Given the description of an element on the screen output the (x, y) to click on. 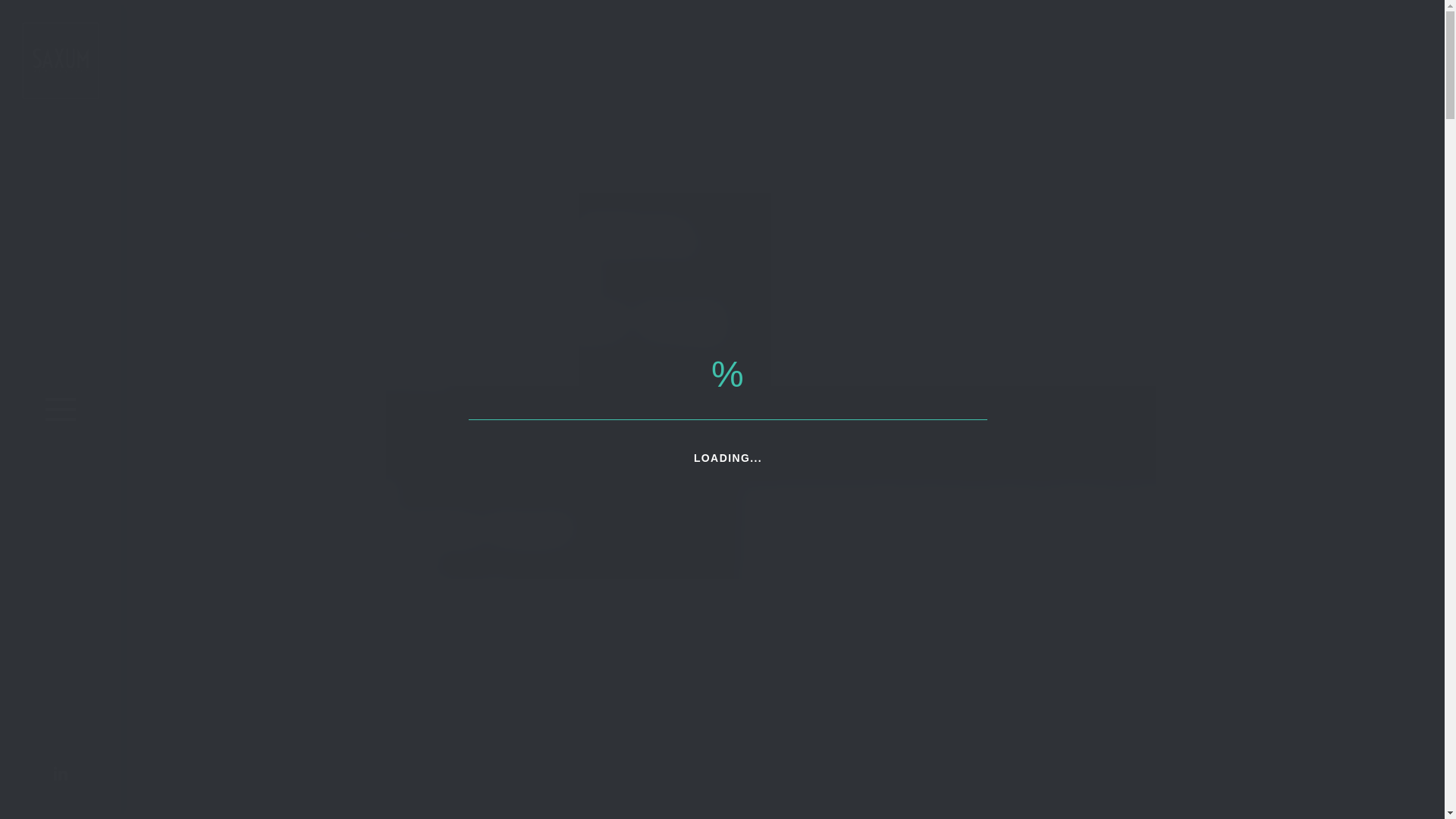
BACK TO MEDIA (340, 114)
